Given the description of an element on the screen output the (x, y) to click on. 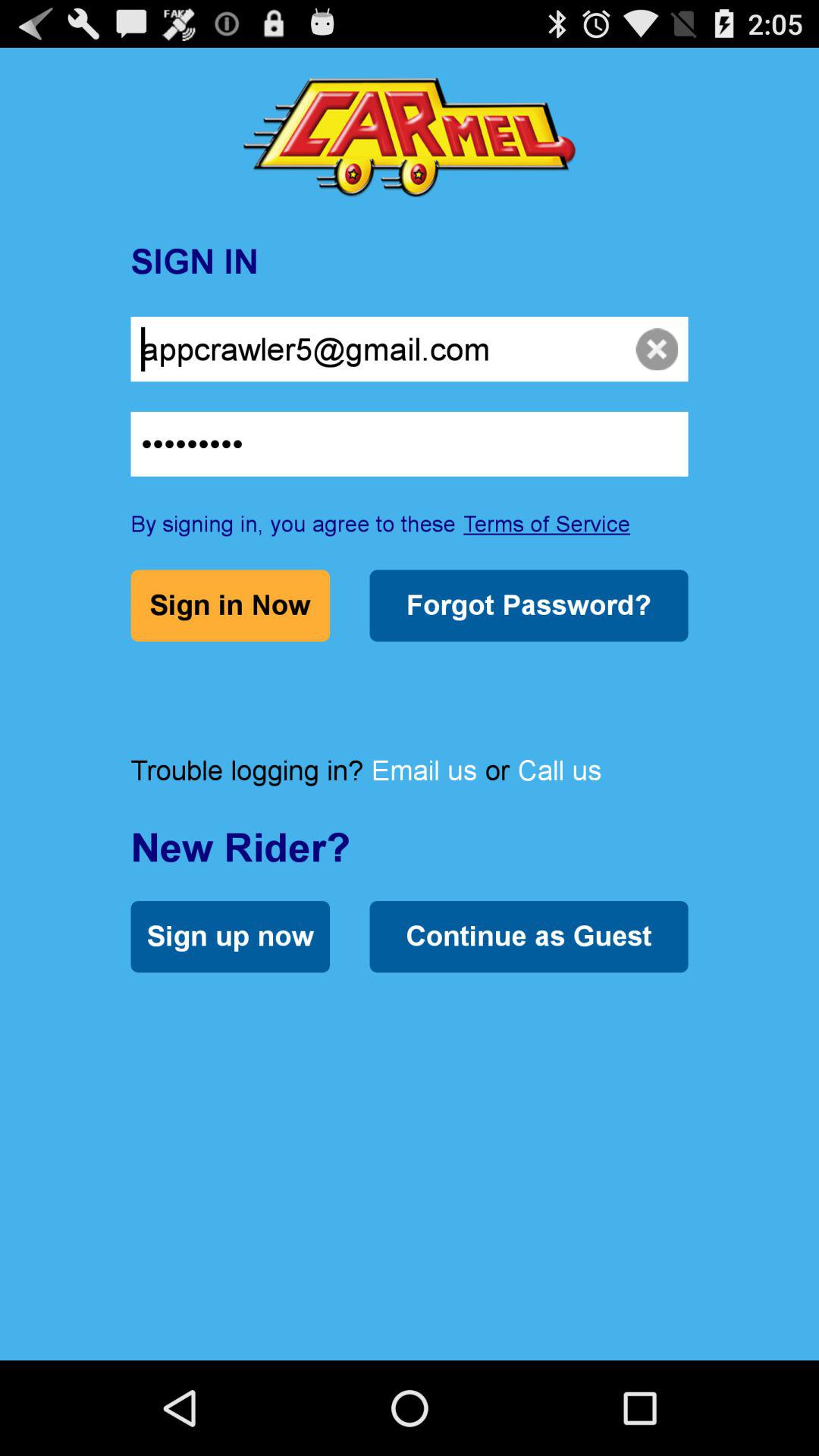
select the  call us  icon (559, 770)
